Given the description of an element on the screen output the (x, y) to click on. 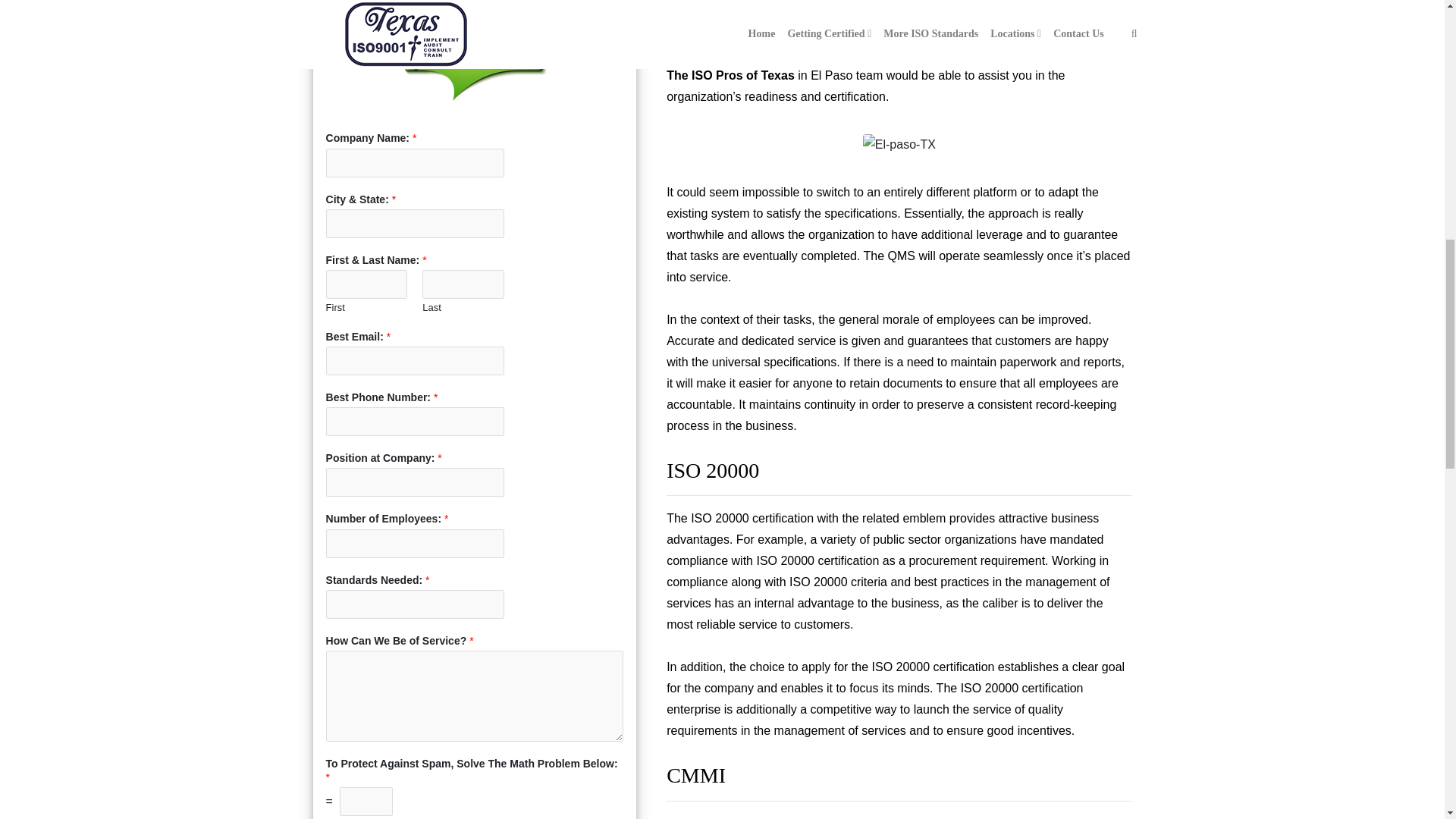
IQC The ISO Pros of Texas (895, 64)
